Given the description of an element on the screen output the (x, y) to click on. 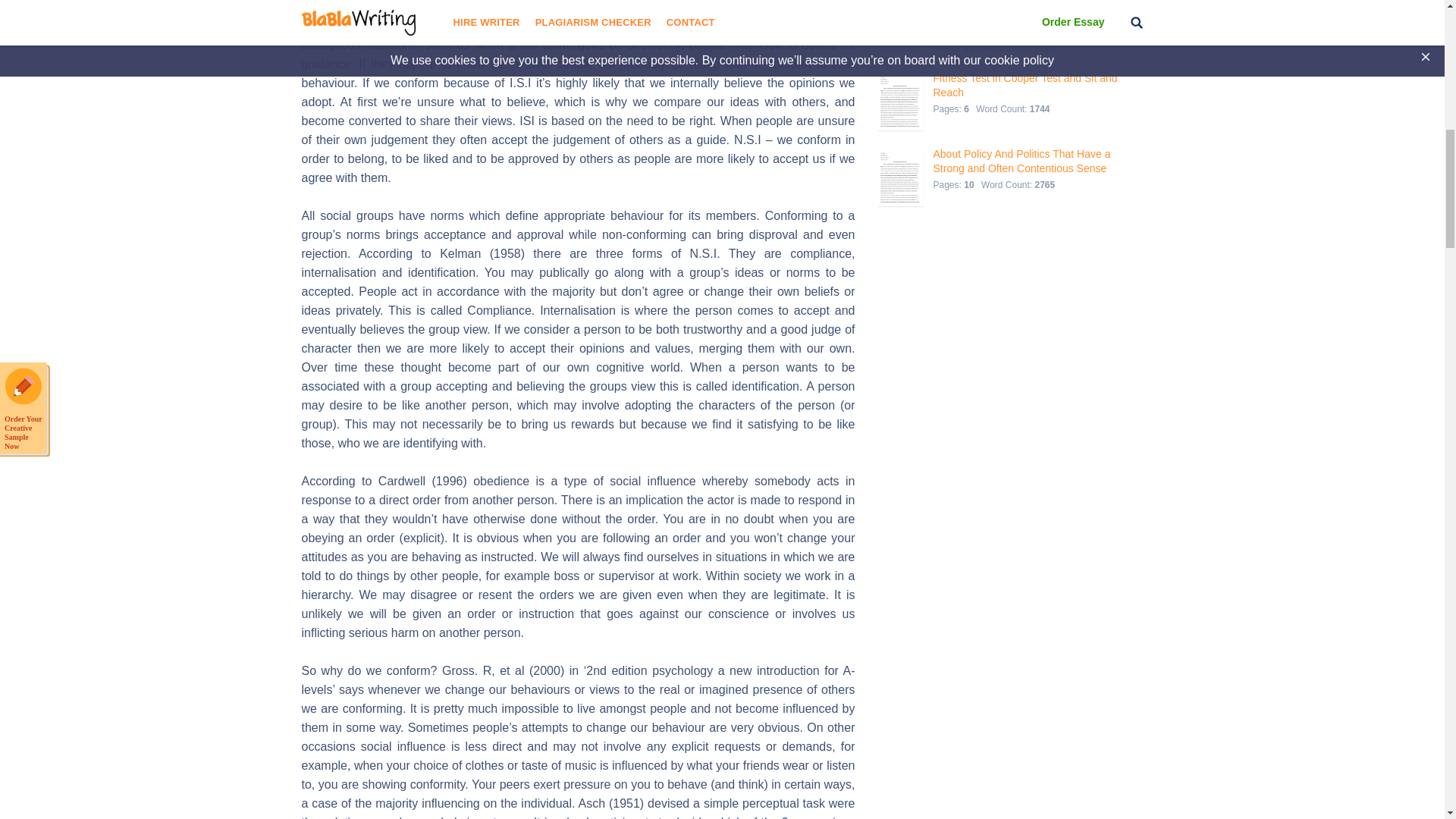
Fitness Test in Cooper Test and Sit and Reach (1025, 85)
